Given the description of an element on the screen output the (x, y) to click on. 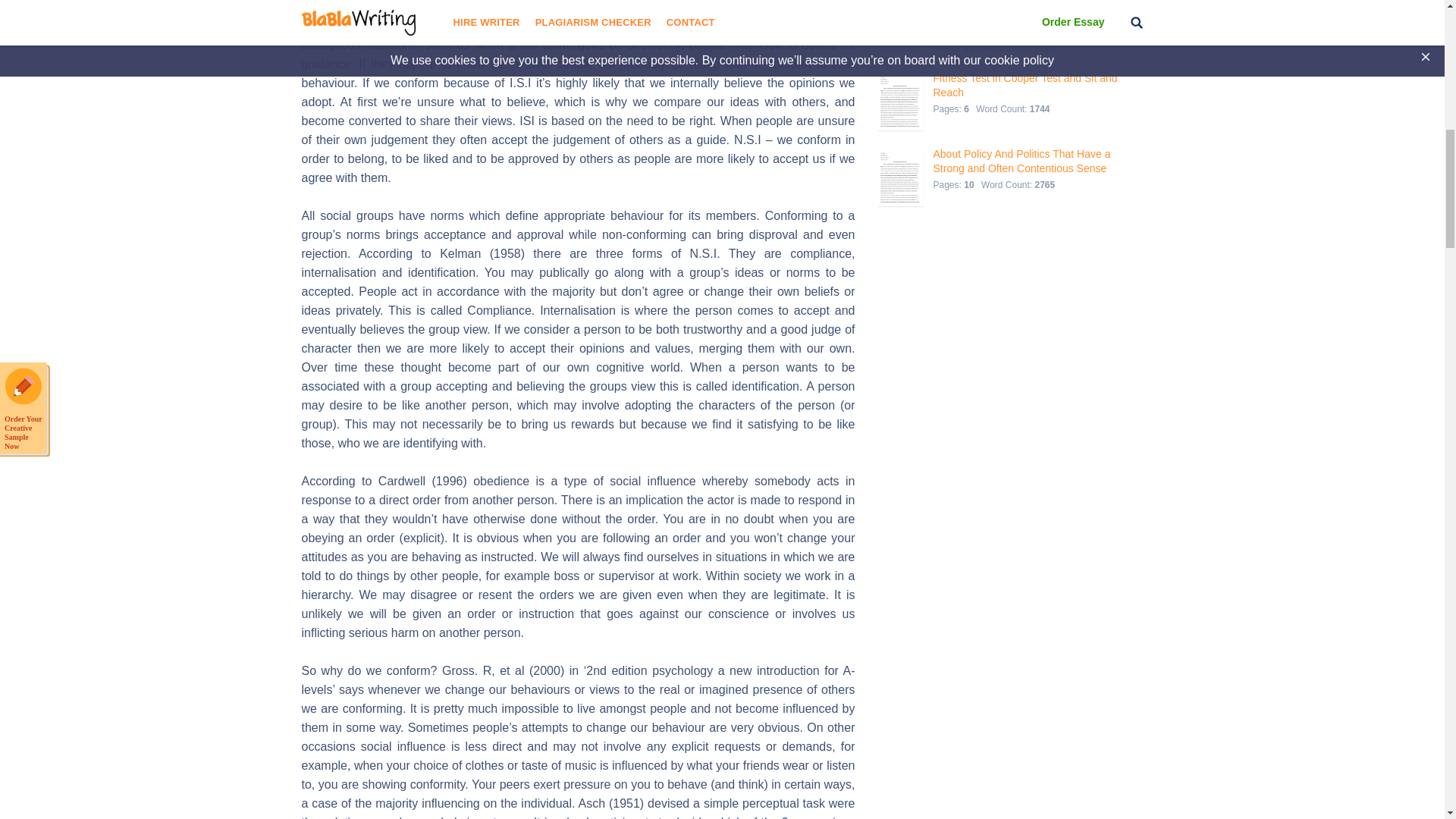
Fitness Test in Cooper Test and Sit and Reach (1025, 85)
